Given the description of an element on the screen output the (x, y) to click on. 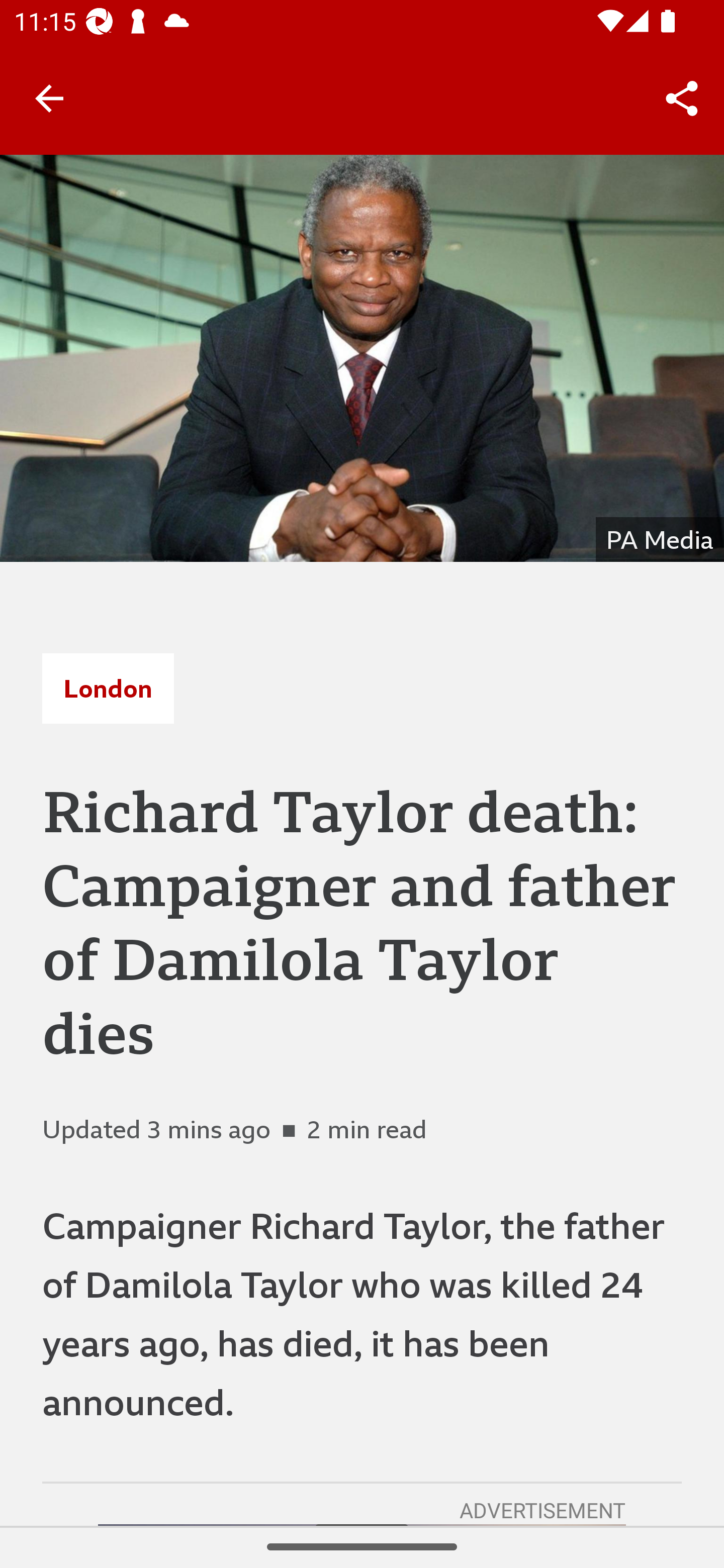
Back (49, 97)
Share (681, 98)
Richard Taylor (362, 358)
London (107, 688)
